Given the description of an element on the screen output the (x, y) to click on. 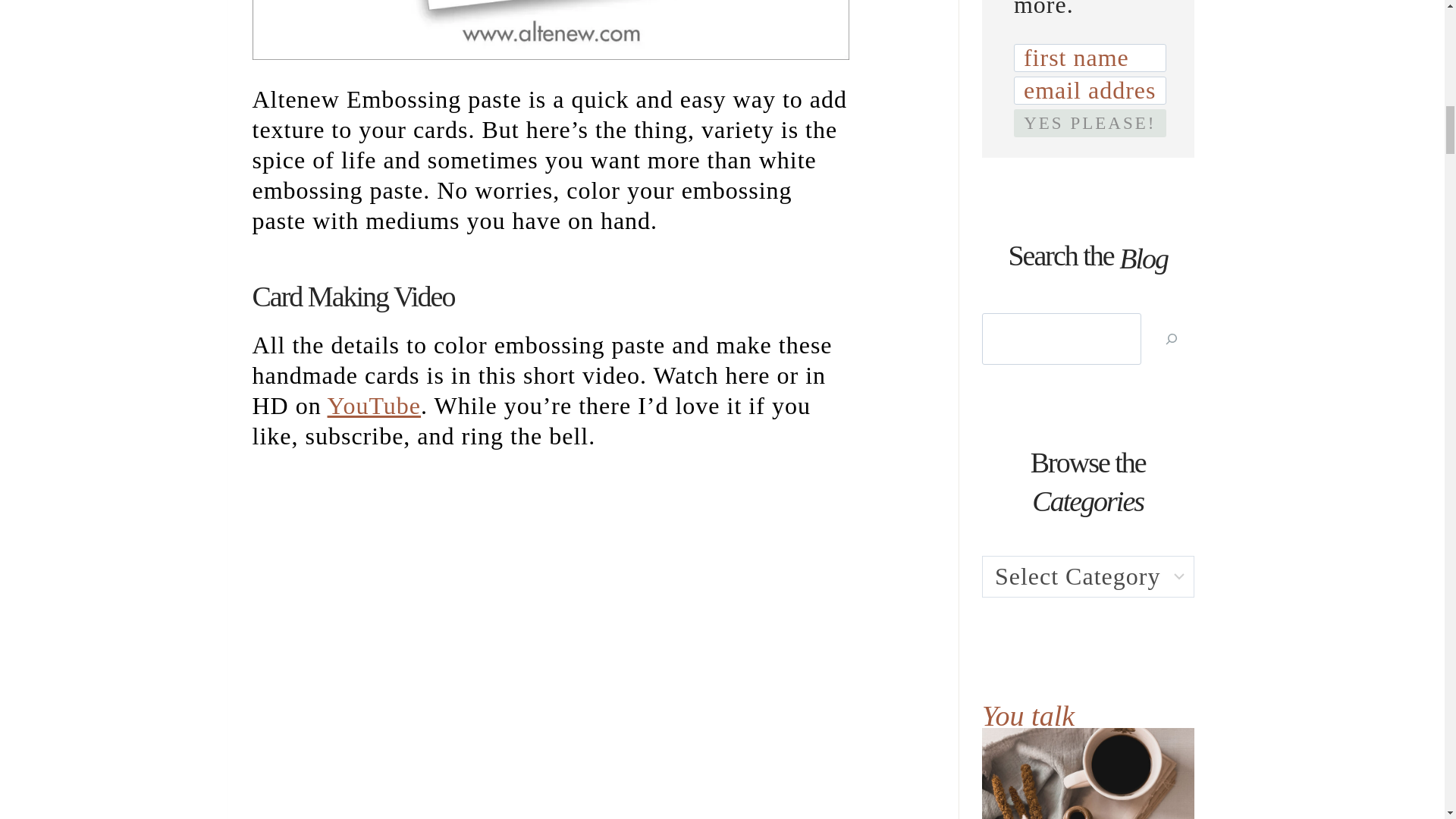
Yes Please! (1089, 122)
YouTube (374, 405)
